Given the description of an element on the screen output the (x, y) to click on. 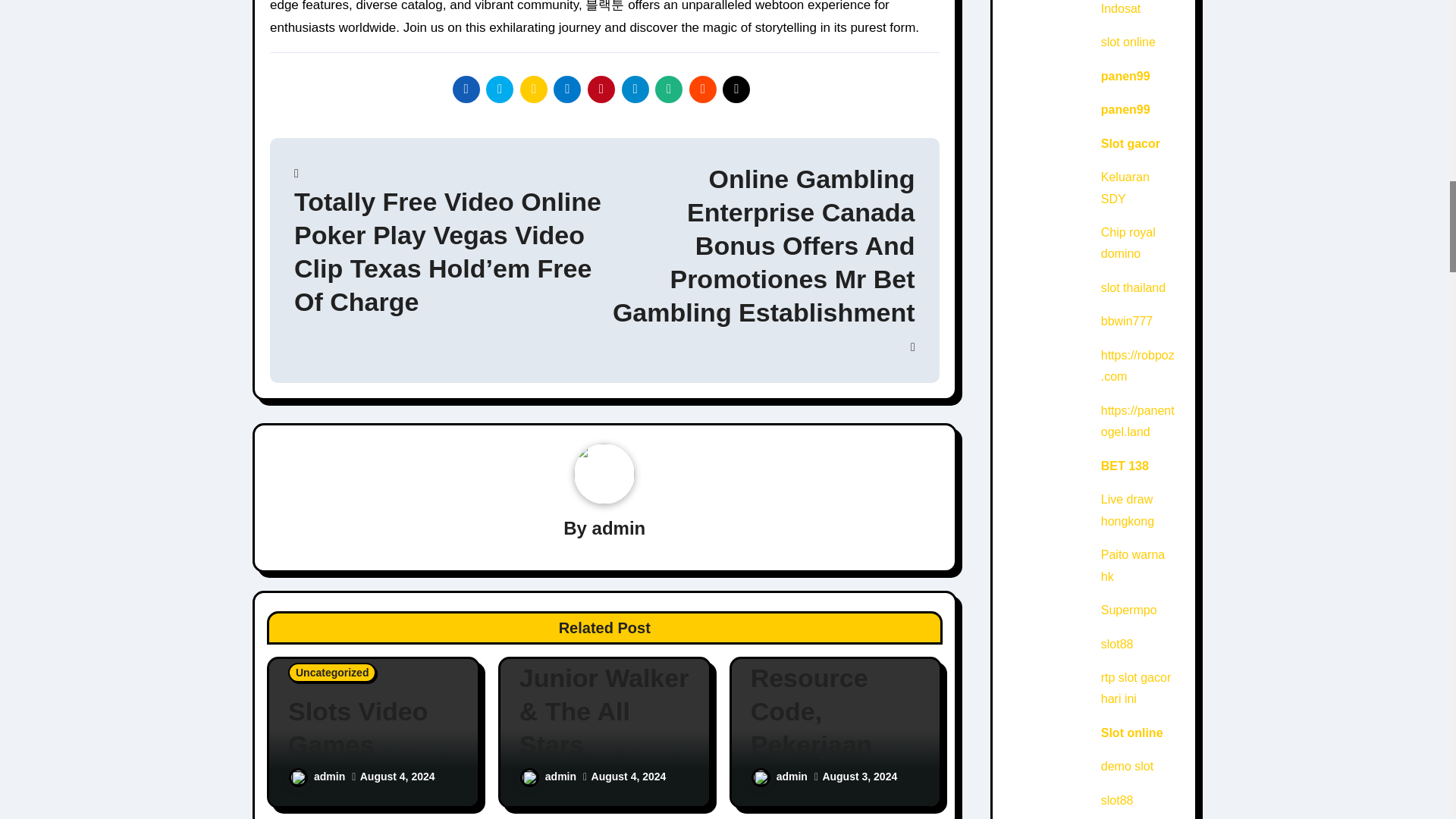
Permalink to: Slots Video Games (373, 727)
